Given the description of an element on the screen output the (x, y) to click on. 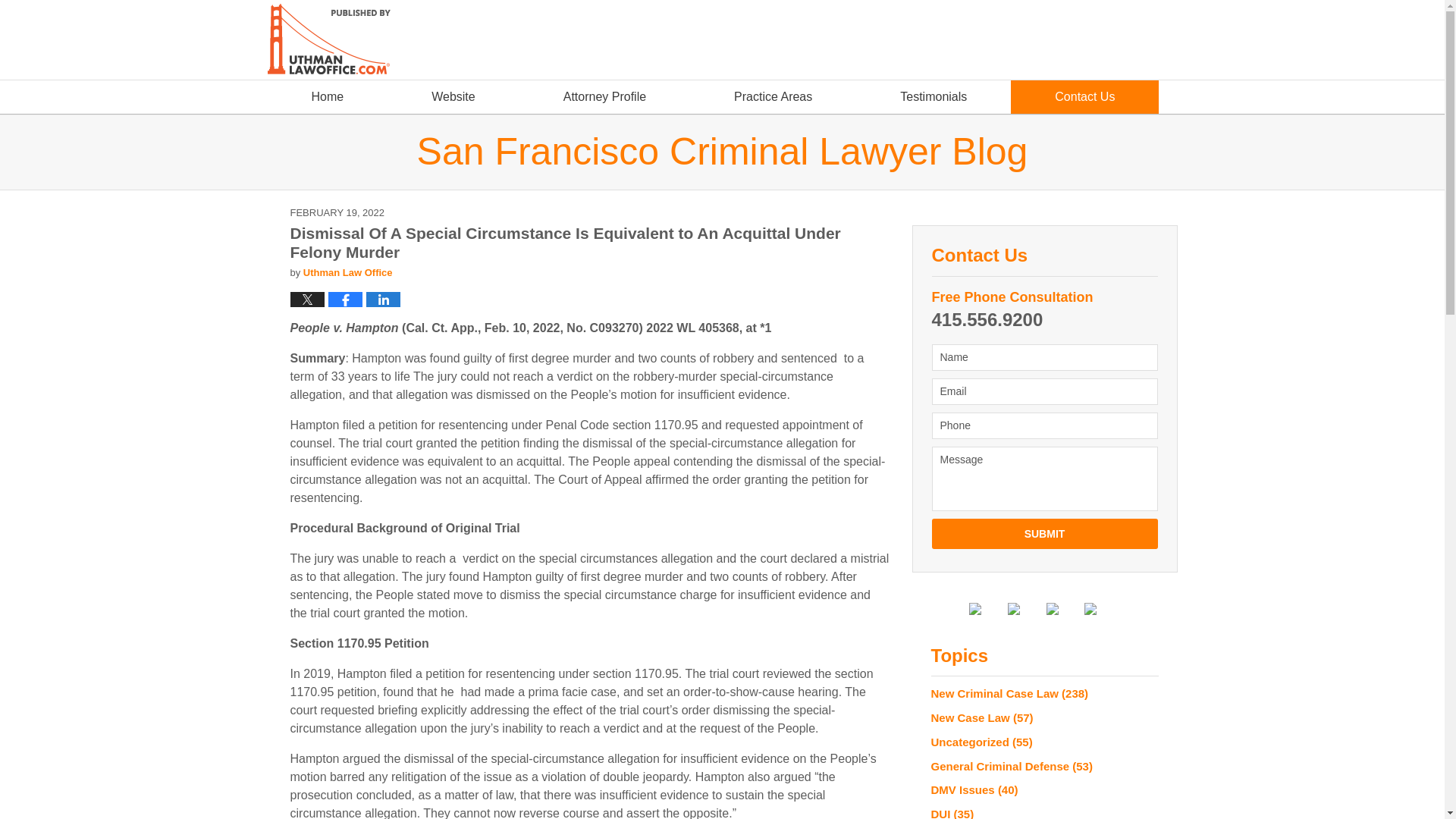
Uthman Law Office (347, 272)
Testimonials (933, 96)
Twitter (1025, 608)
Practice Areas (773, 96)
chinese (1138, 62)
Website (453, 96)
Attorney Profile (604, 96)
Published By Uthman Law Office (1047, 41)
Justia (1063, 608)
San Francisco Criminal Lawyer Blog (721, 151)
